Given the description of an element on the screen output the (x, y) to click on. 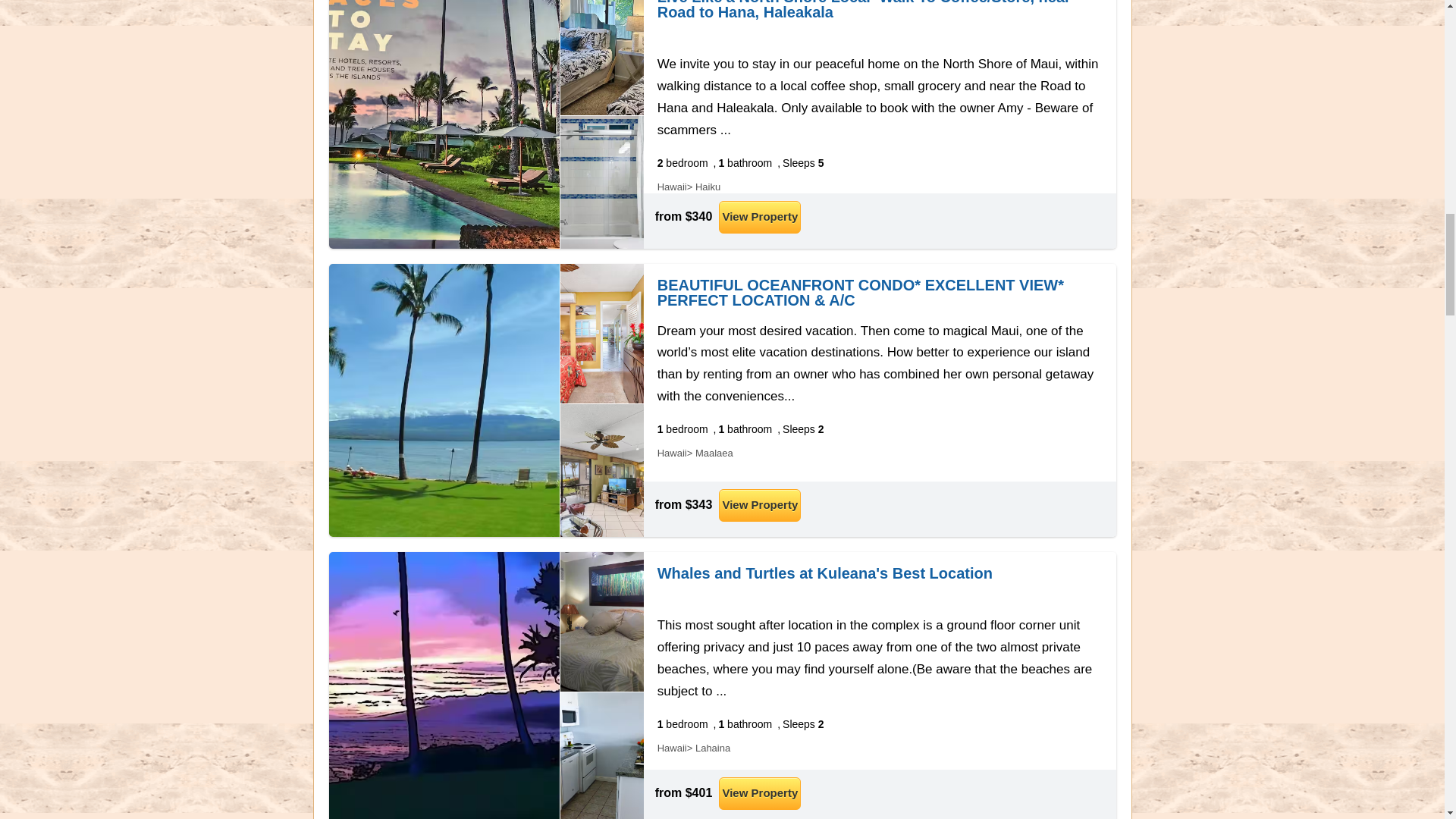
View Property (759, 216)
Whales and Turtles at Kuleana's Best Location (825, 573)
View Property (759, 504)
Whales and Turtles at Kuleana's Best Location (825, 573)
View Property (759, 793)
